Given the description of an element on the screen output the (x, y) to click on. 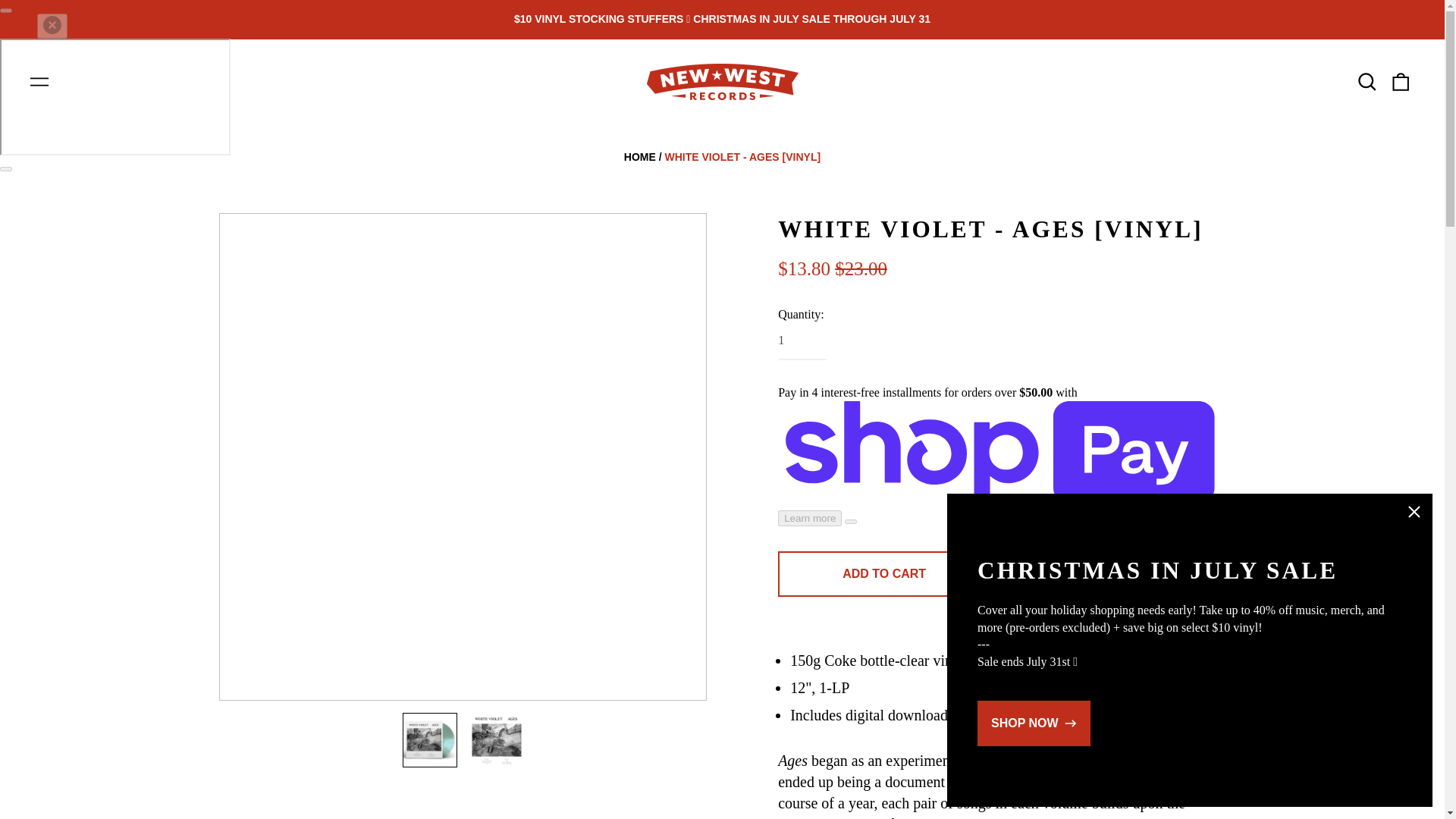
Home (640, 156)
